Given the description of an element on the screen output the (x, y) to click on. 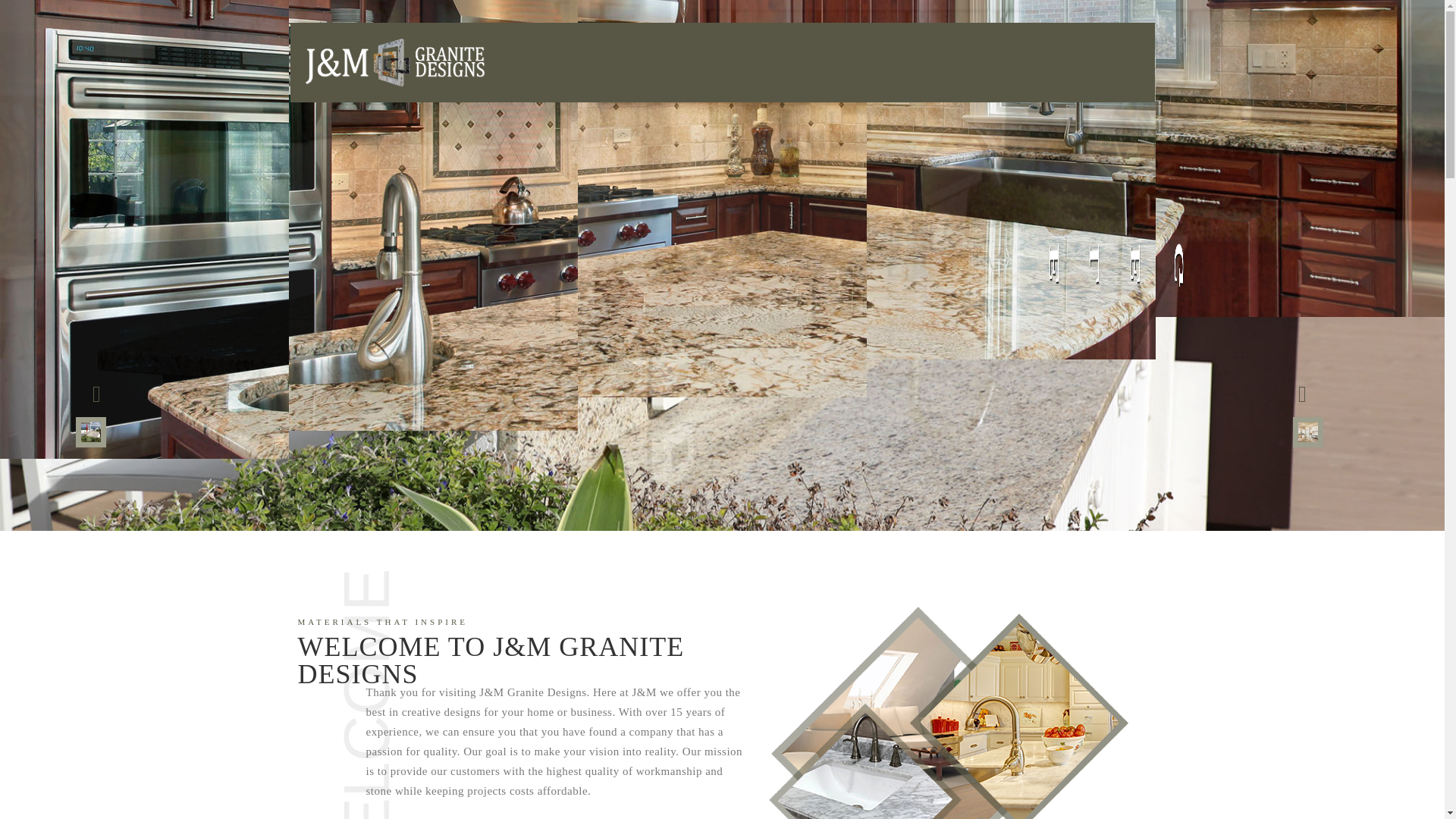
VIEW OUR SERVICES (660, 813)
Services (660, 813)
